Given the description of an element on the screen output the (x, y) to click on. 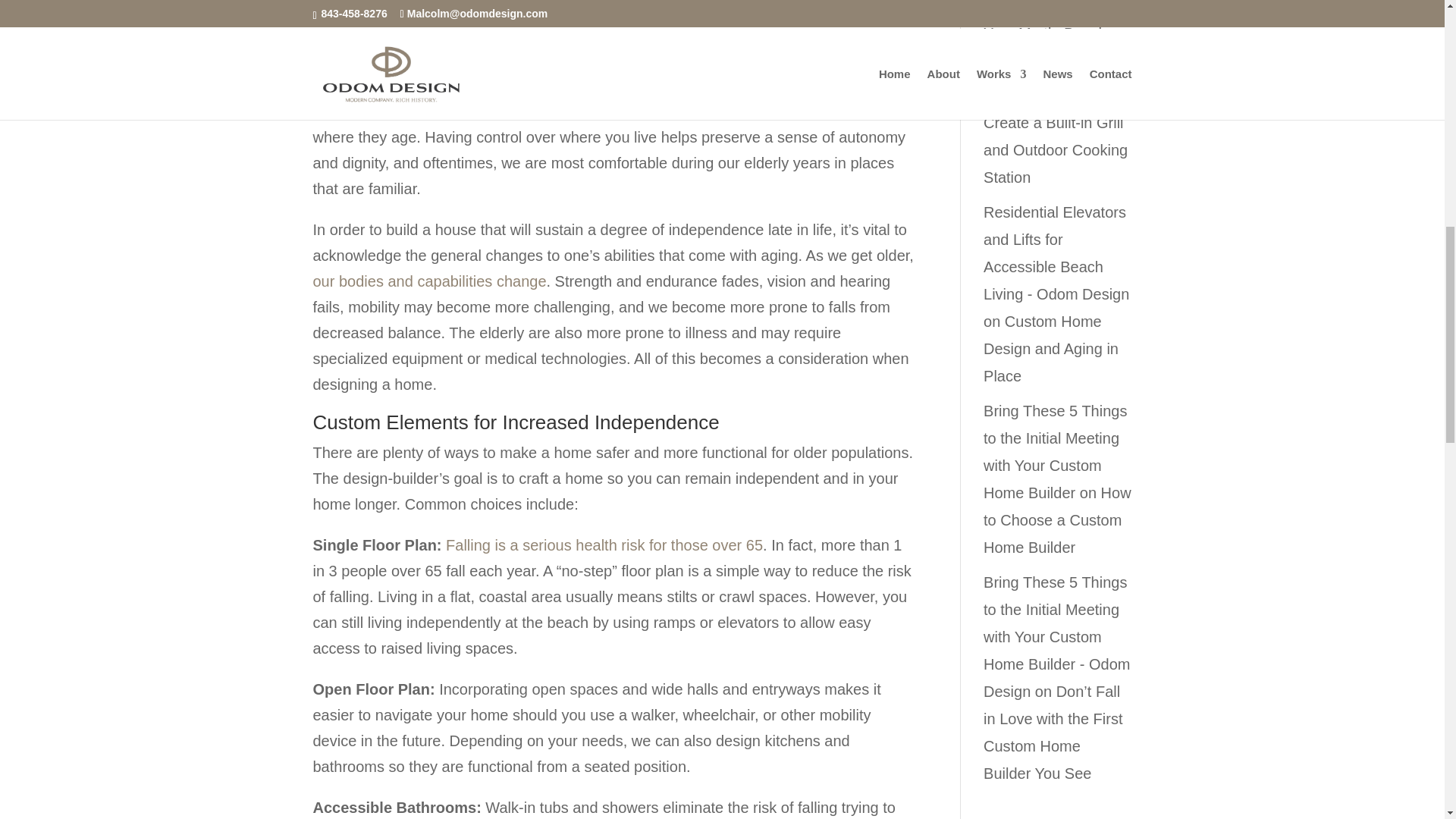
Create a Built-in Grill and Outdoor Cooking Station (1055, 149)
Falling is a serious health risk for those over 65 (603, 545)
How to Choose a Custom Home Builder (1057, 520)
our bodies and capabilities change (429, 280)
Custom Home Design and Aging in Place (1051, 348)
Cecily Podell (1027, 95)
